Given the description of an element on the screen output the (x, y) to click on. 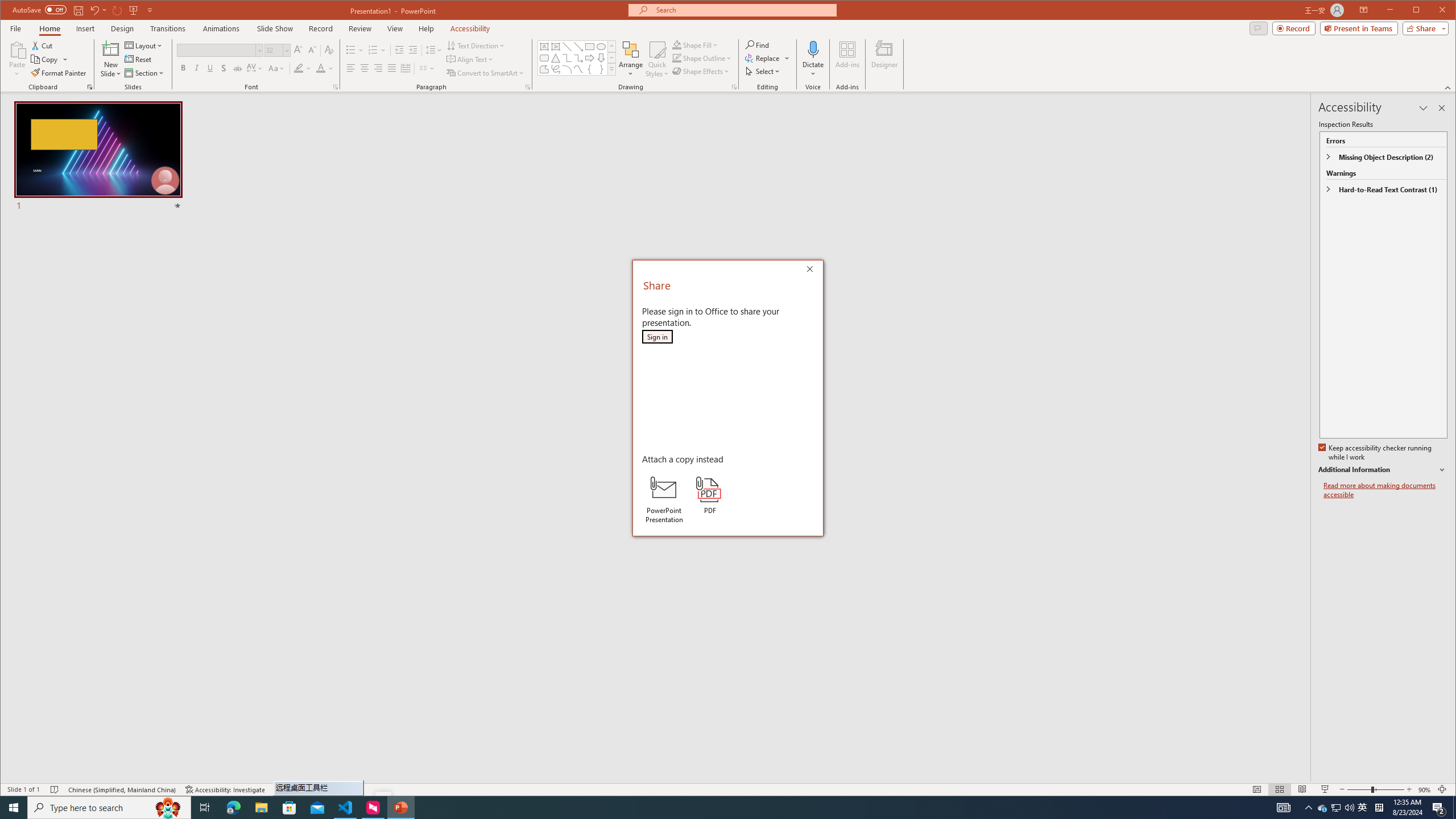
PDF (709, 495)
